Given the description of an element on the screen output the (x, y) to click on. 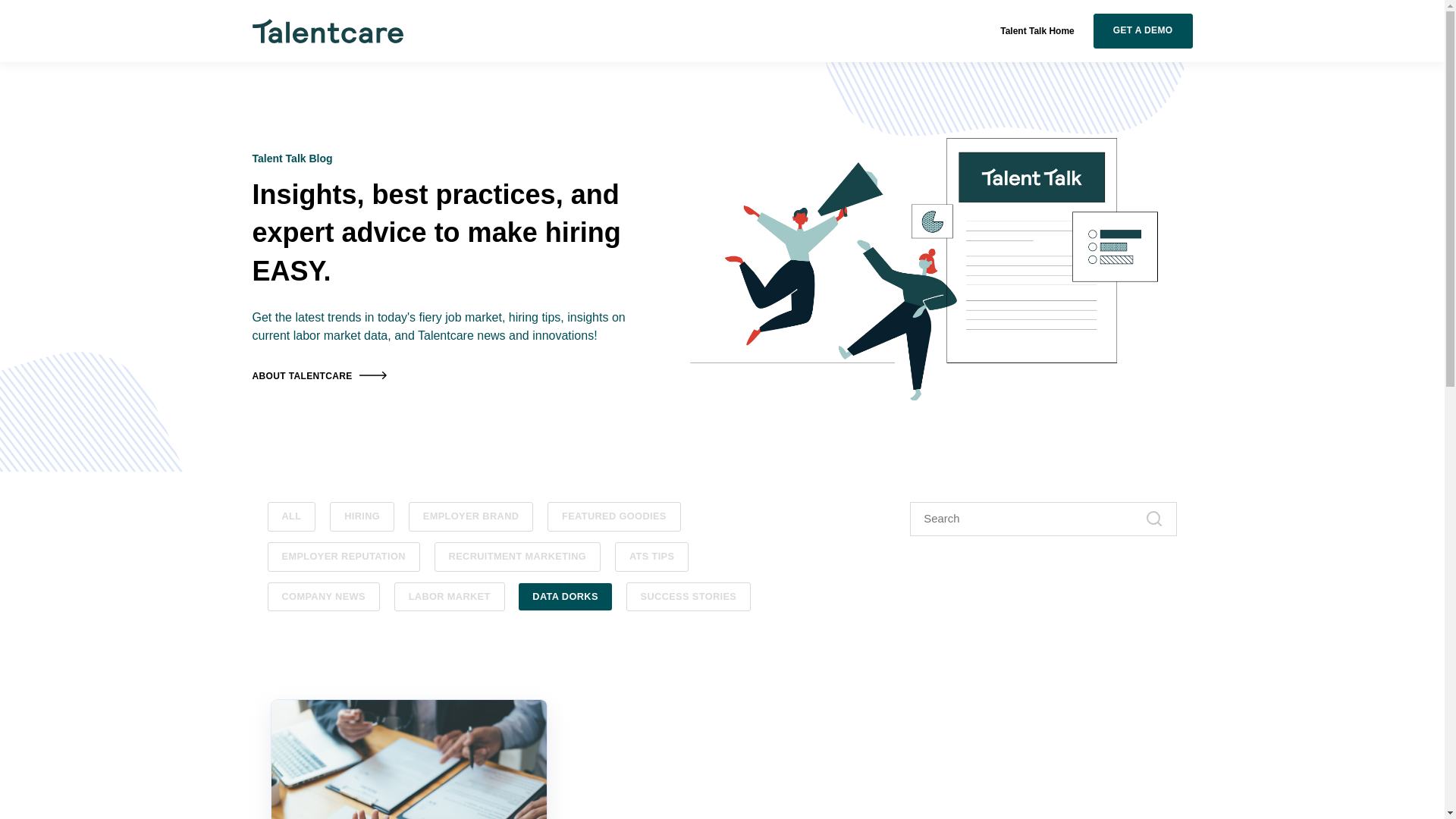
COMPANY NEWS (322, 596)
DATA DORKS (564, 596)
Talent Talk Home (1037, 30)
SUCCESS STORIES (688, 596)
GET A DEMO (1142, 30)
ABOUT TALENTCARE (319, 377)
ATS TIPS (651, 556)
RECRUITMENT MARKETING (517, 556)
ALL (290, 516)
EMPLOYER REPUTATION (342, 556)
HIRING (362, 516)
FEATURED GOODIES (614, 516)
LABOR MARKET (449, 596)
EMPLOYER BRAND (471, 516)
